Given the description of an element on the screen output the (x, y) to click on. 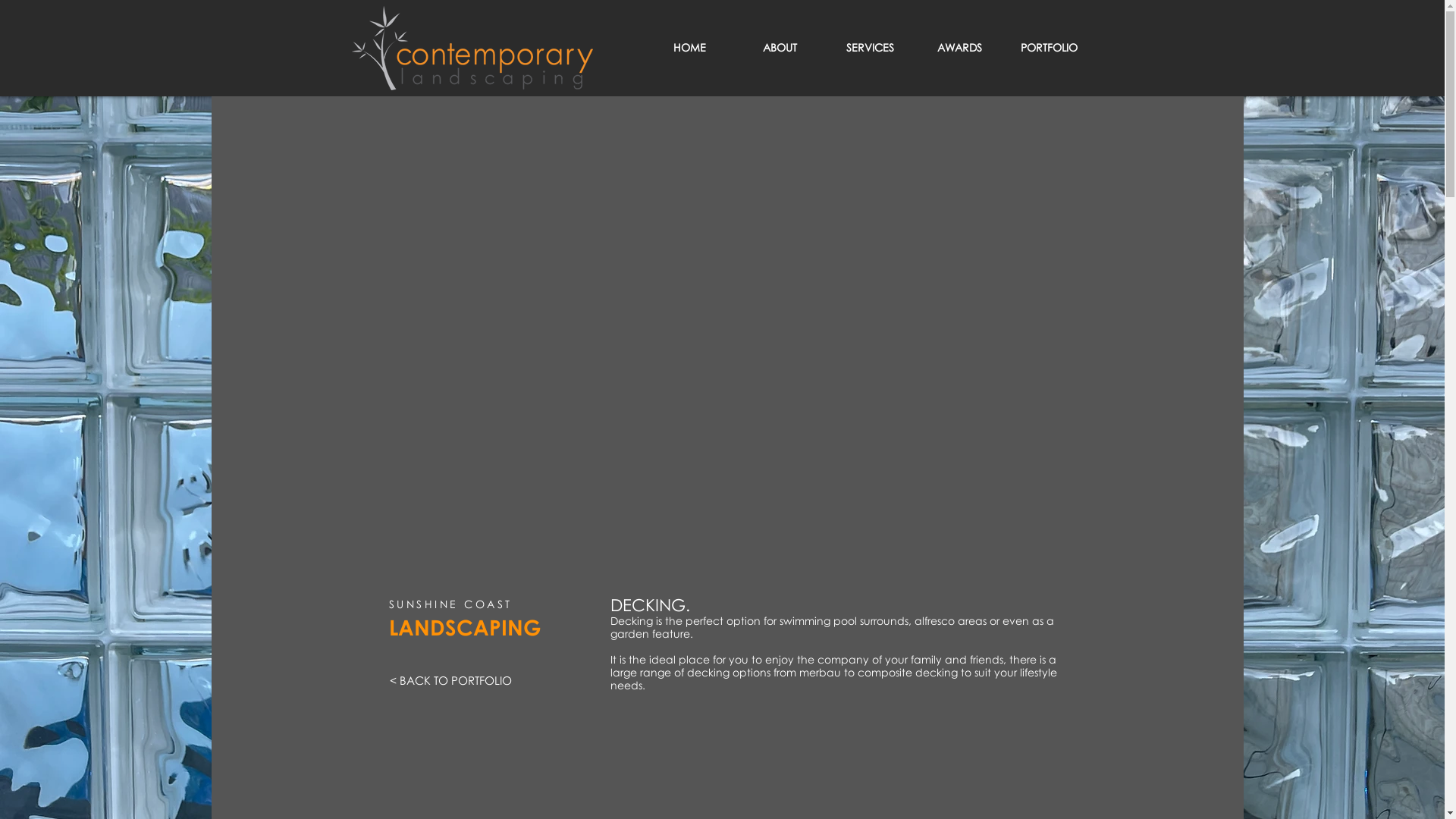
ABOUT Element type: text (779, 47)
SERVICES Element type: text (870, 47)
AWARDS Element type: text (959, 47)
PORTFOLIO Element type: text (1048, 47)
< BACK TO PORTFOLIO Element type: text (449, 680)
HOME Element type: text (689, 47)
